Given the description of an element on the screen output the (x, y) to click on. 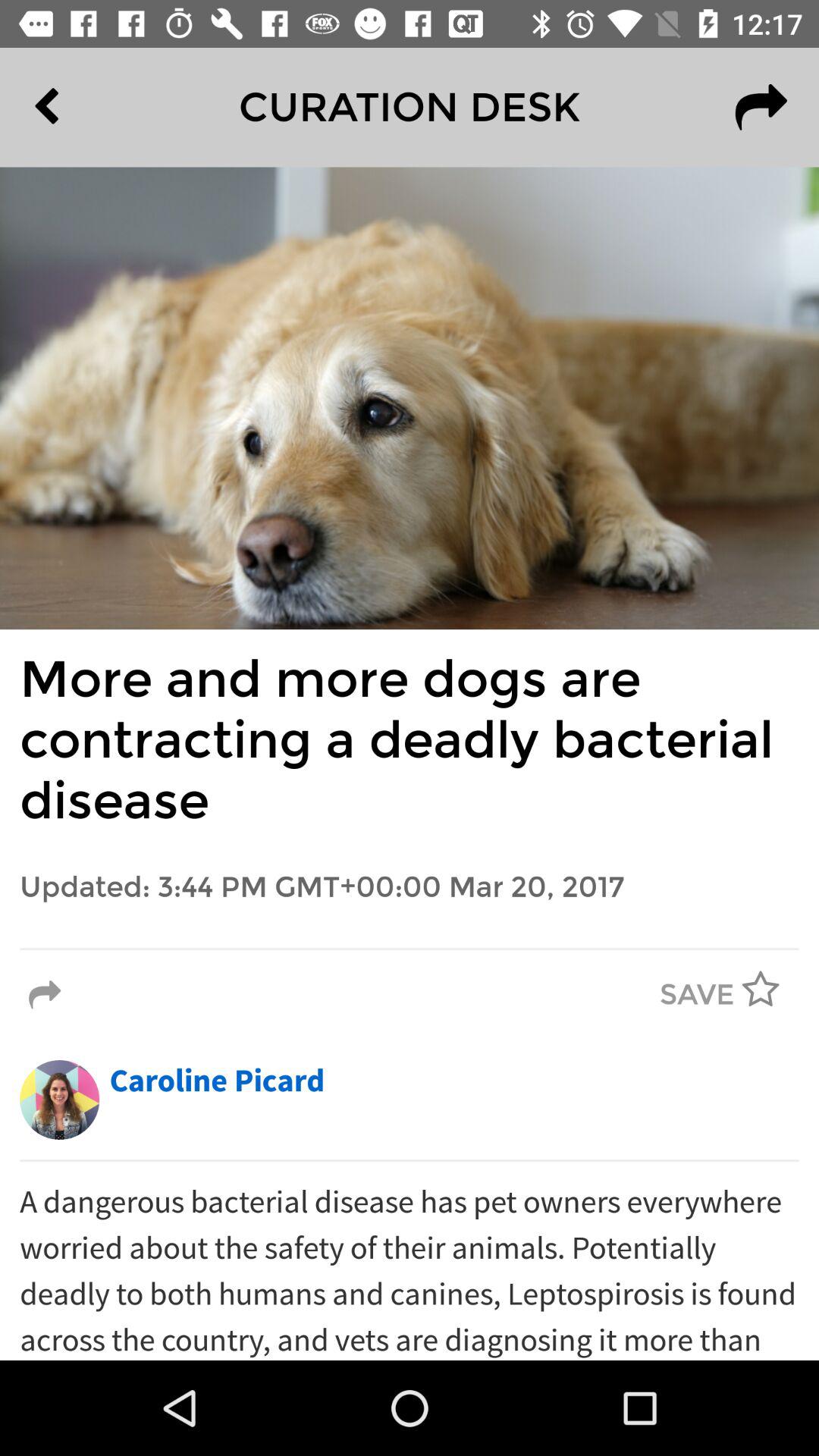
turn off the updated 3 44 (409, 887)
